Given the description of an element on the screen output the (x, y) to click on. 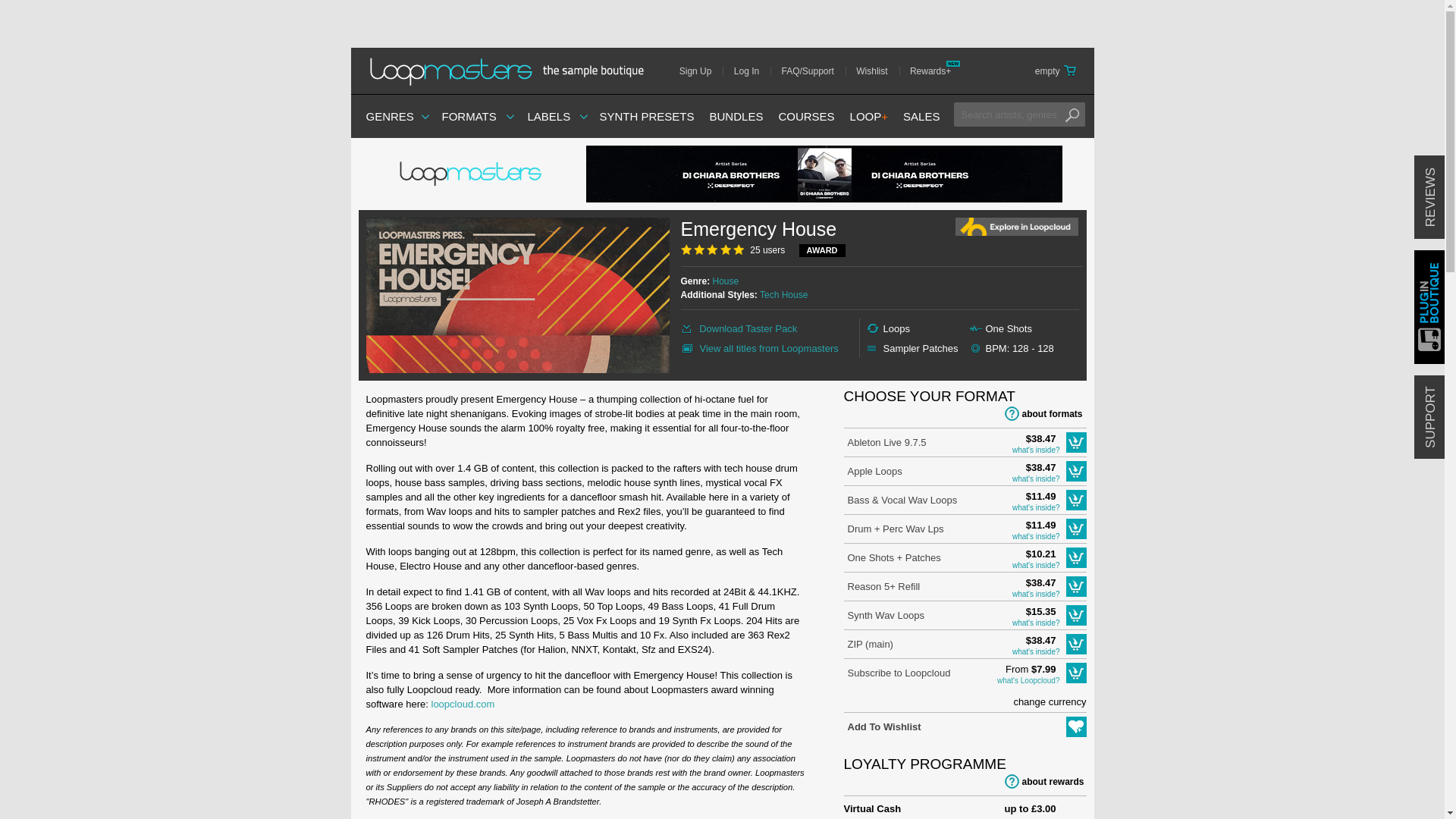
Loopmasters - the sample boutique (511, 71)
Sign Up (701, 71)
Wishlist (877, 71)
Wishlist (877, 71)
Sign Up (701, 71)
Support and frequently questioned answers (812, 71)
Log In (752, 71)
Show all genres (389, 115)
Log In (752, 71)
GENRES (389, 115)
